Given the description of an element on the screen output the (x, y) to click on. 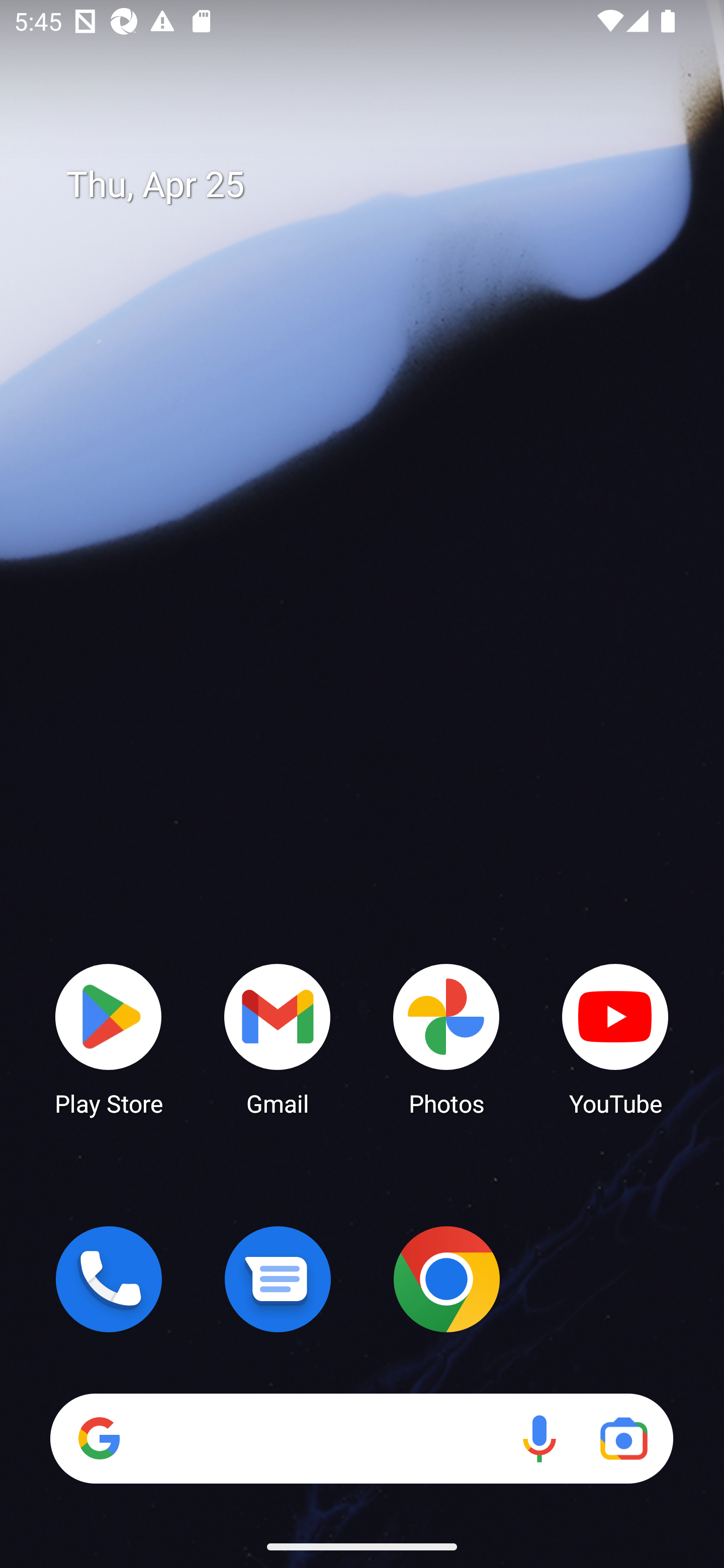
Thu, Apr 25 (375, 184)
Play Store (108, 1038)
Gmail (277, 1038)
Photos (445, 1038)
YouTube (615, 1038)
Phone (108, 1279)
Messages (277, 1279)
Chrome (446, 1279)
Search Voice search Google Lens (361, 1438)
Voice search (539, 1438)
Google Lens (623, 1438)
